Given the description of an element on the screen output the (x, y) to click on. 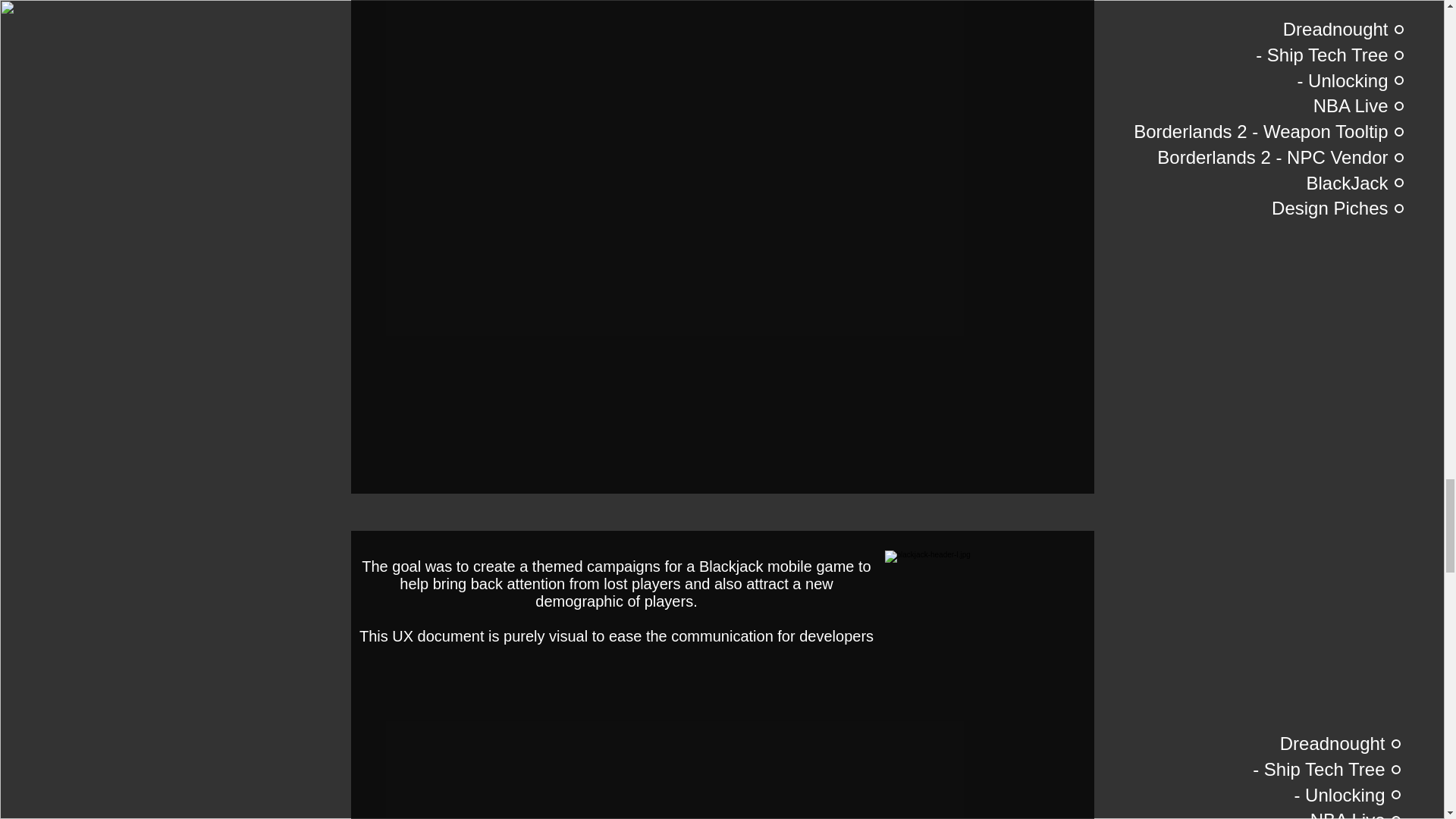
External YouTube (721, 6)
